Given the description of an element on the screen output the (x, y) to click on. 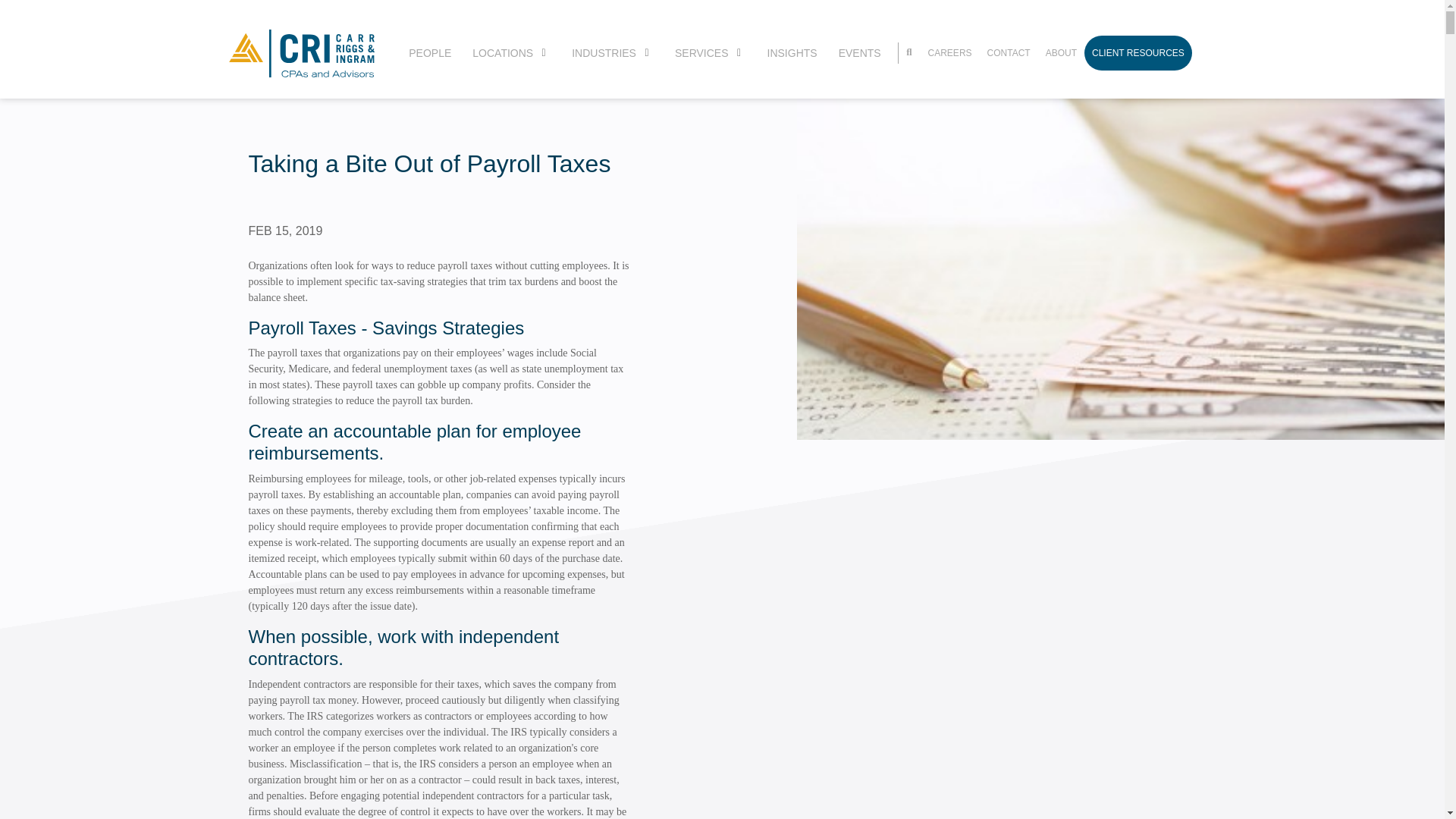
PEOPLE (430, 53)
LOCATIONS (501, 53)
